Given the description of an element on the screen output the (x, y) to click on. 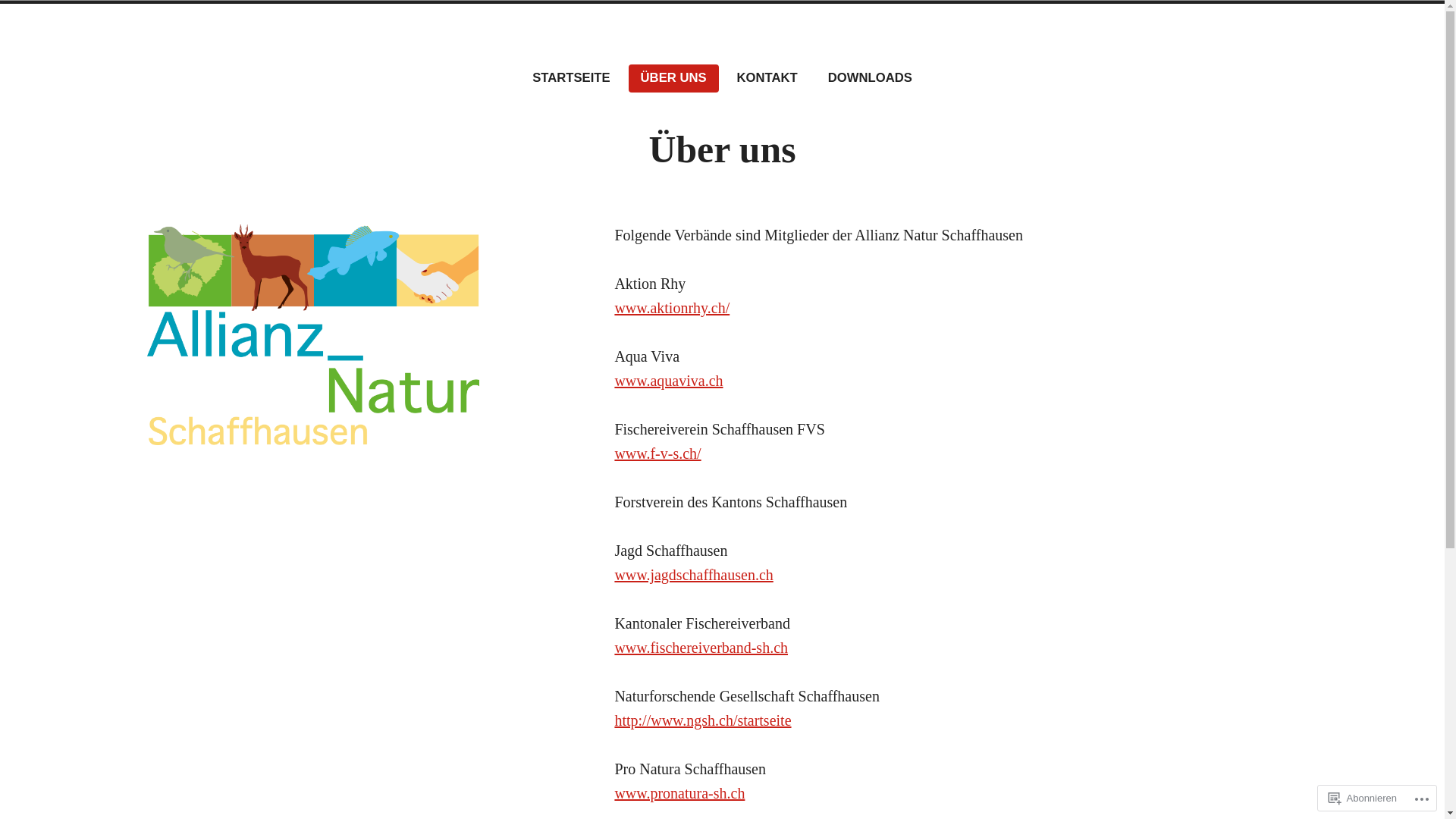
Allianz Natur Schaffhausen Element type: text (319, 62)
www.aquaviva.ch Element type: text (668, 380)
STARTSEITE Element type: text (570, 78)
www.aktionrhy.ch/ Element type: text (671, 307)
Abonnieren Element type: text (1362, 797)
www.jagdschaffhausen.ch Element type: text (693, 574)
http://www.ngsh.ch/startseite Element type: text (702, 720)
www.f-v-s.ch/ Element type: text (657, 453)
KONTAKT Element type: text (766, 78)
DOWNLOADS Element type: text (869, 78)
www.pronatura-sh.ch Element type: text (679, 792)
www.fischereiverband-sh.ch Element type: text (700, 647)
